Given the description of an element on the screen output the (x, y) to click on. 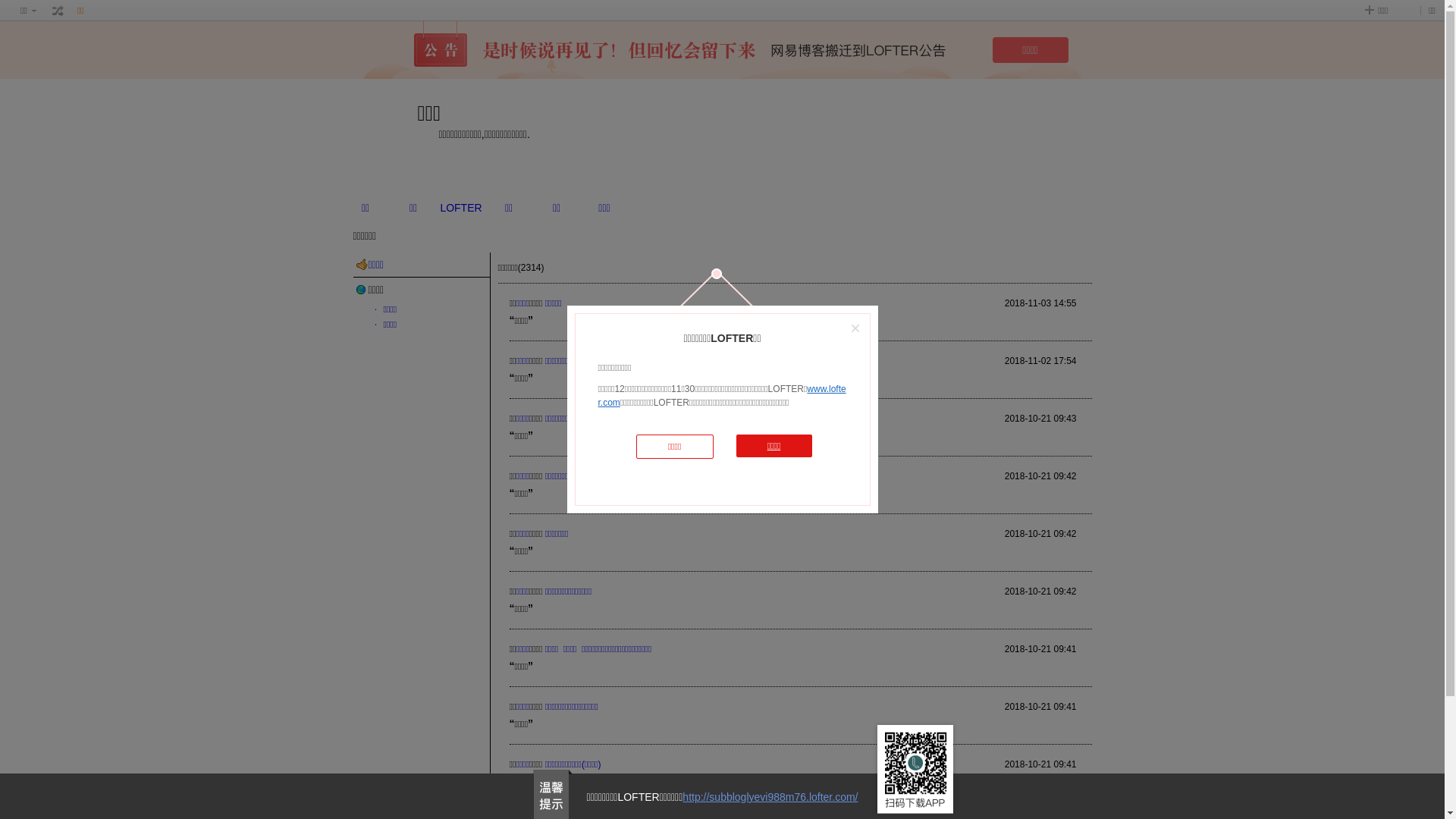
http://subbloglyevi988m76.lofter.com/ Element type: text (769, 796)
www.lofter.com Element type: text (721, 395)
  Element type: text (58, 10)
LOFTER Element type: text (460, 207)
